Given the description of an element on the screen output the (x, y) to click on. 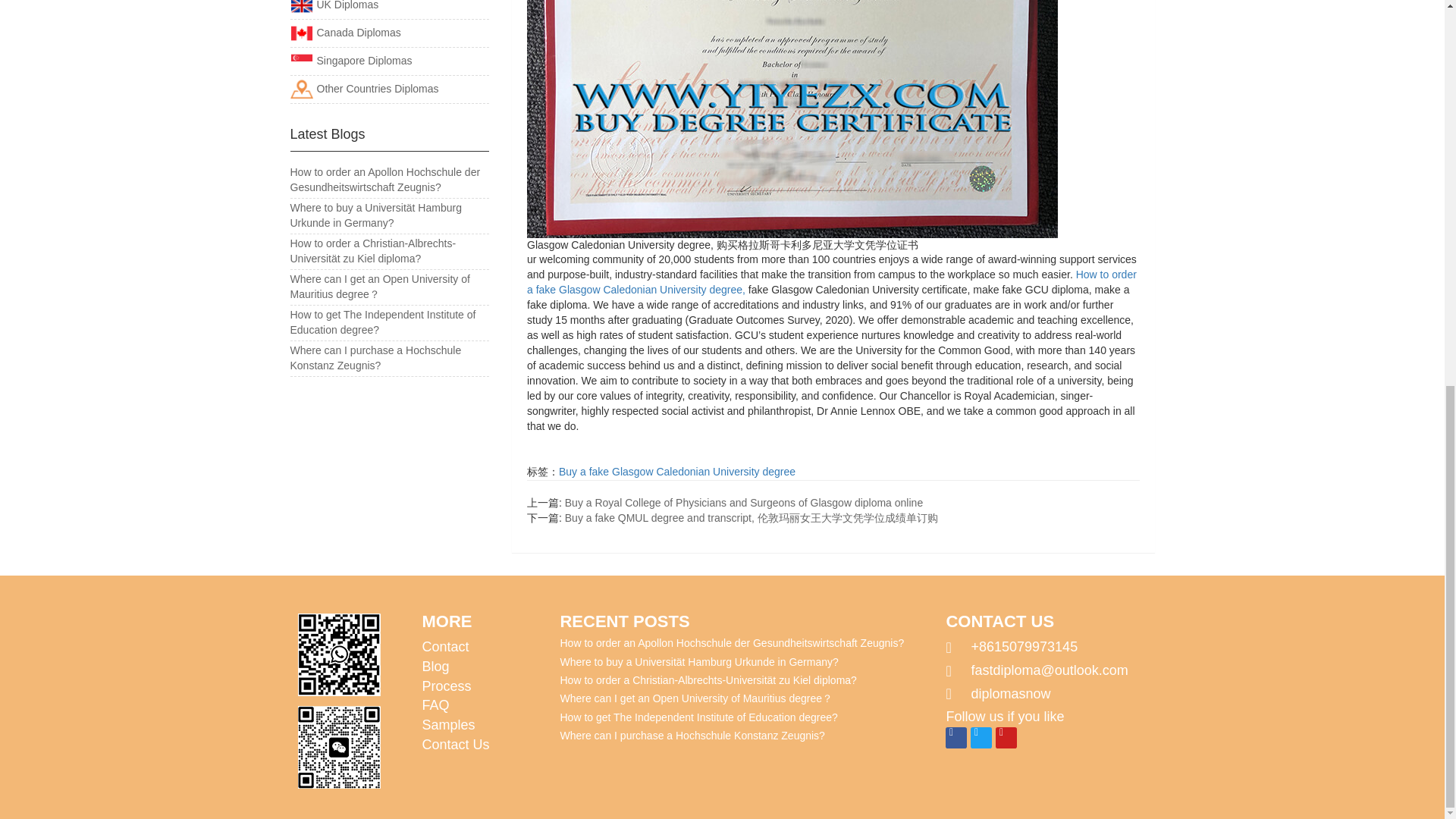
How to get The Independent Institute of Education degree? (382, 321)
UK Diplomas (333, 5)
Canada Diplomas (344, 32)
Singapore Diplomas (350, 60)
Other Countries Diplomas (363, 88)
